Given the description of an element on the screen output the (x, y) to click on. 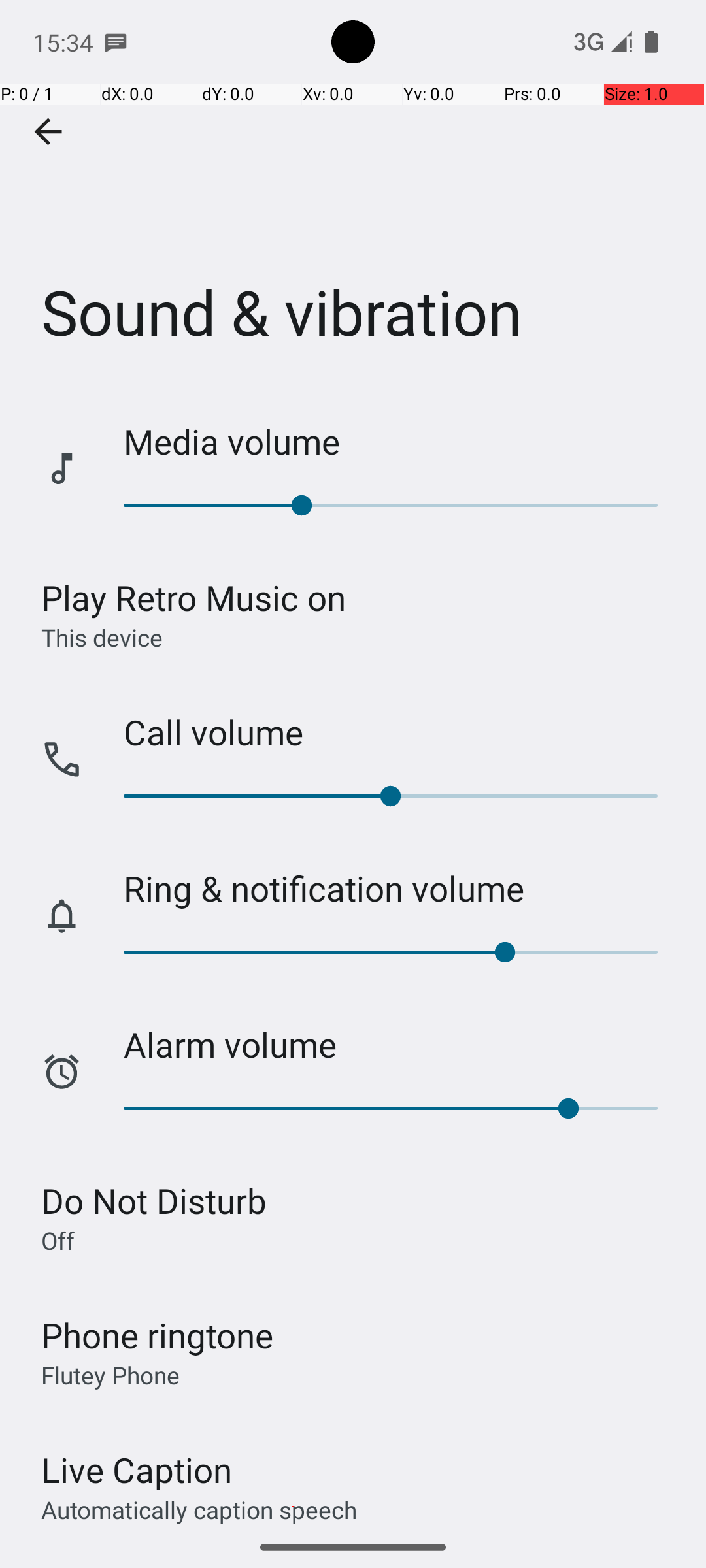
Sound & vibration Element type: android.widget.FrameLayout (353, 195)
Media volume Element type: android.widget.TextView (400, 441)
Play Retro Music on Element type: android.widget.TextView (193, 597)
This device Element type: android.widget.TextView (101, 636)
Call volume Element type: android.widget.TextView (400, 731)
Ring & notification volume Element type: android.widget.TextView (400, 888)
Alarm volume Element type: android.widget.TextView (400, 1044)
Do Not Disturb Element type: android.widget.TextView (153, 1200)
Off Element type: android.widget.TextView (57, 1240)
Phone ringtone Element type: android.widget.TextView (157, 1334)
Flutey Phone Element type: android.widget.TextView (110, 1374)
Live Caption Element type: android.widget.TextView (136, 1469)
Automatically caption speech Element type: android.widget.TextView (199, 1509)
